Given the description of an element on the screen output the (x, y) to click on. 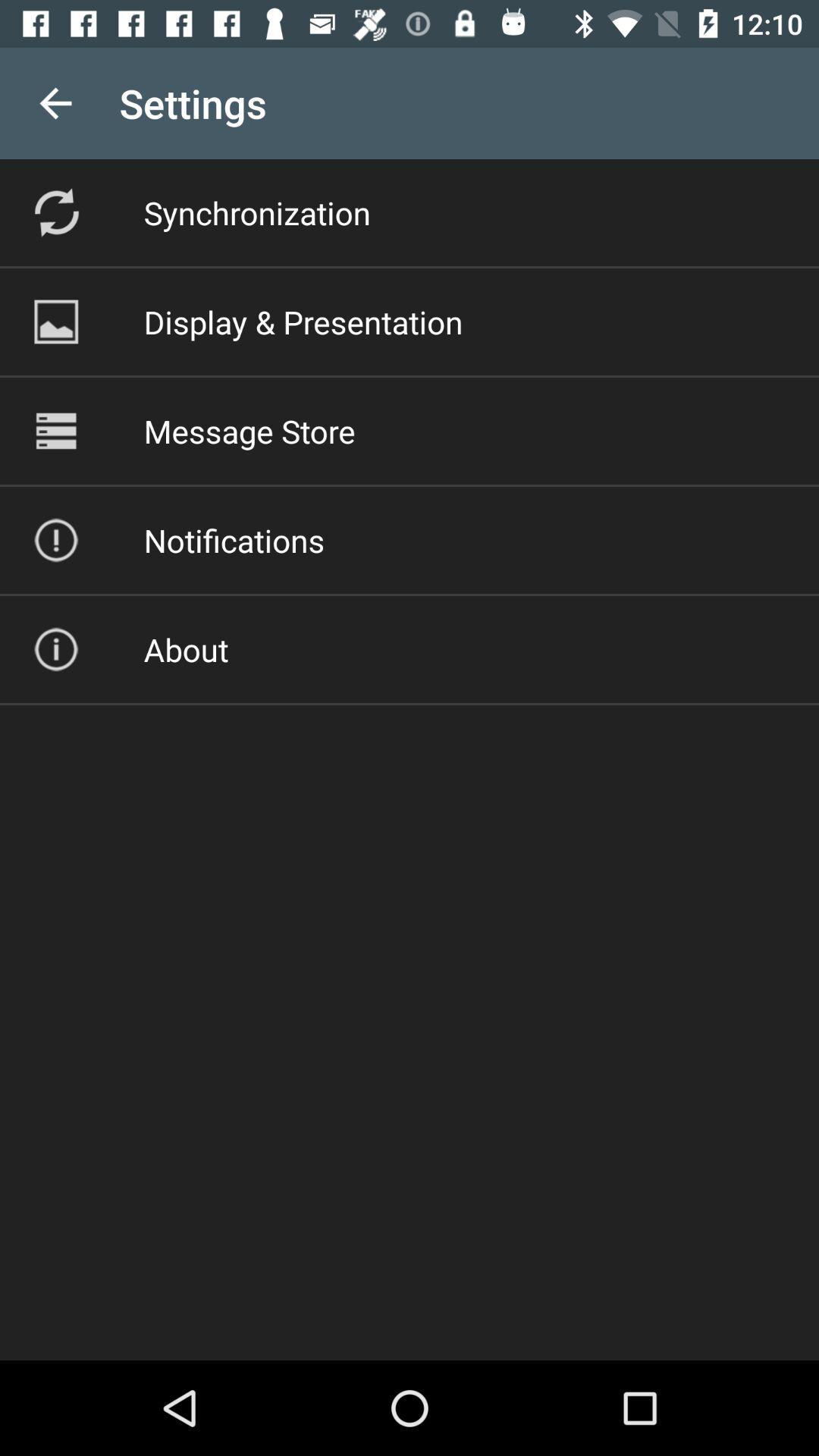
turn on the icon below the message store icon (233, 539)
